Given the description of an element on the screen output the (x, y) to click on. 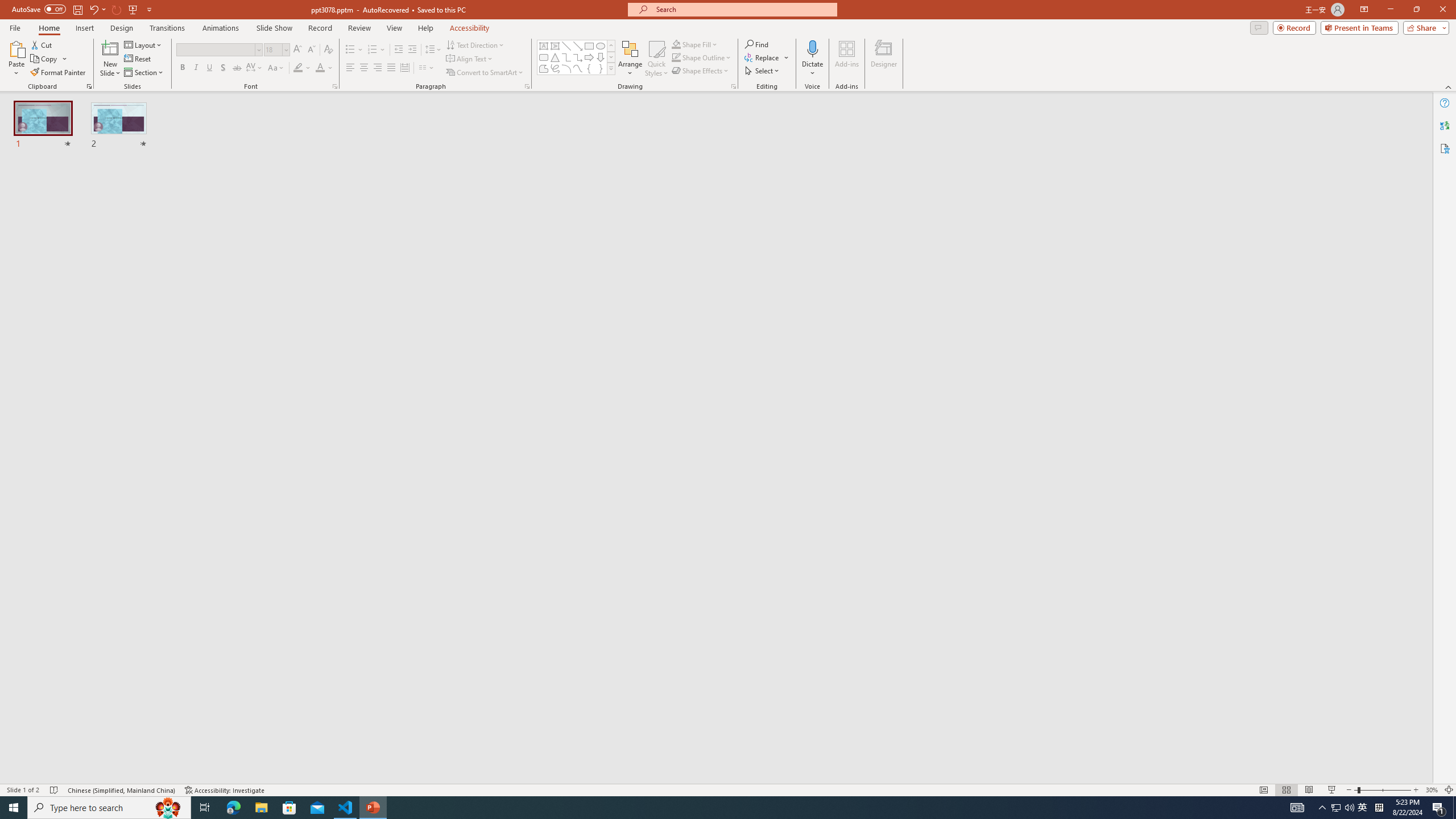
Shape Effects (700, 69)
